Given the description of an element on the screen output the (x, y) to click on. 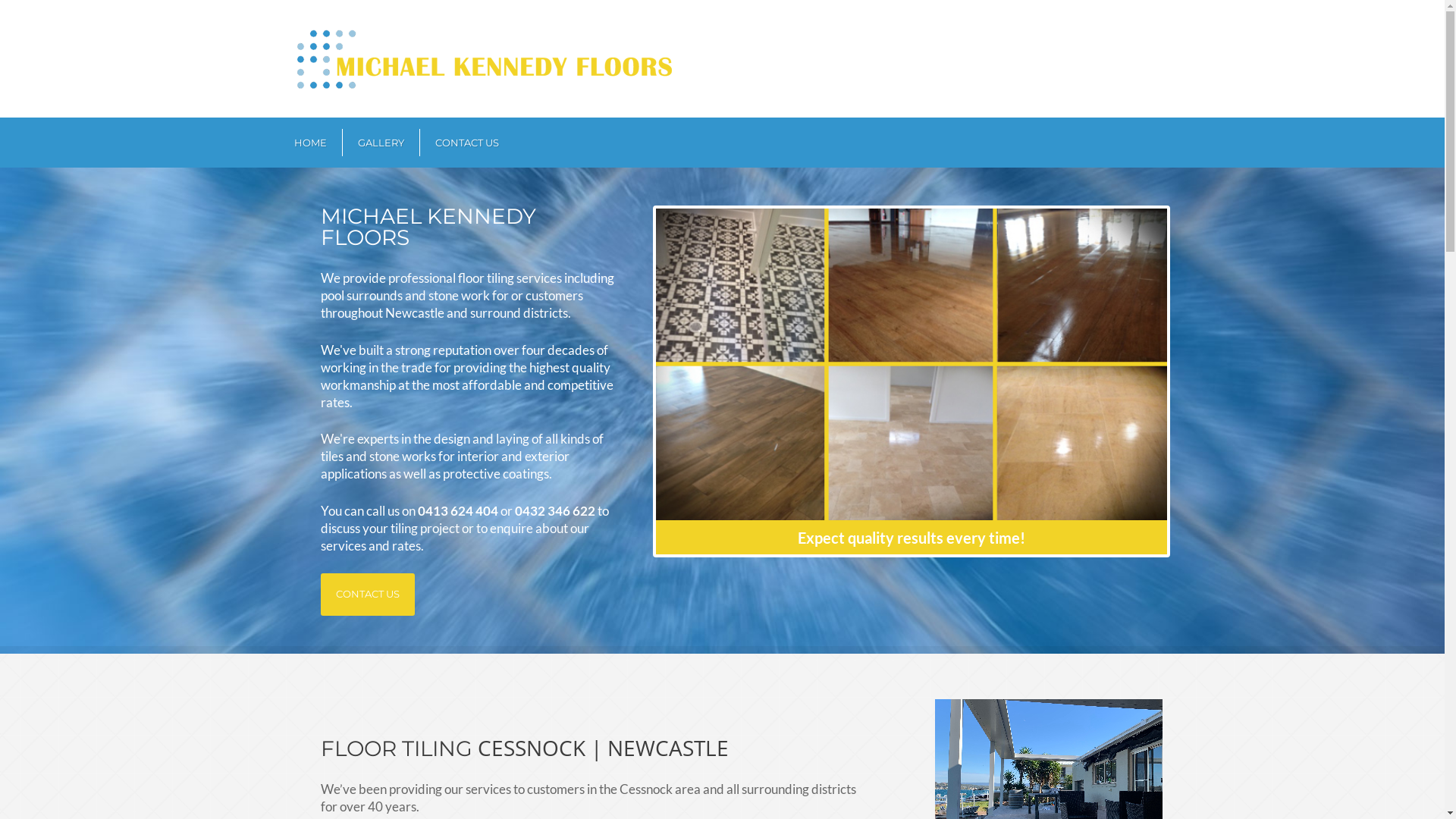
CONTACT US Element type: text (467, 142)
HOME Element type: text (310, 142)
CONTACT US Element type: text (367, 594)
Floor Tiling Cessnock Element type: hover (911, 364)
GALLERY Element type: text (380, 142)
